Given the description of an element on the screen output the (x, y) to click on. 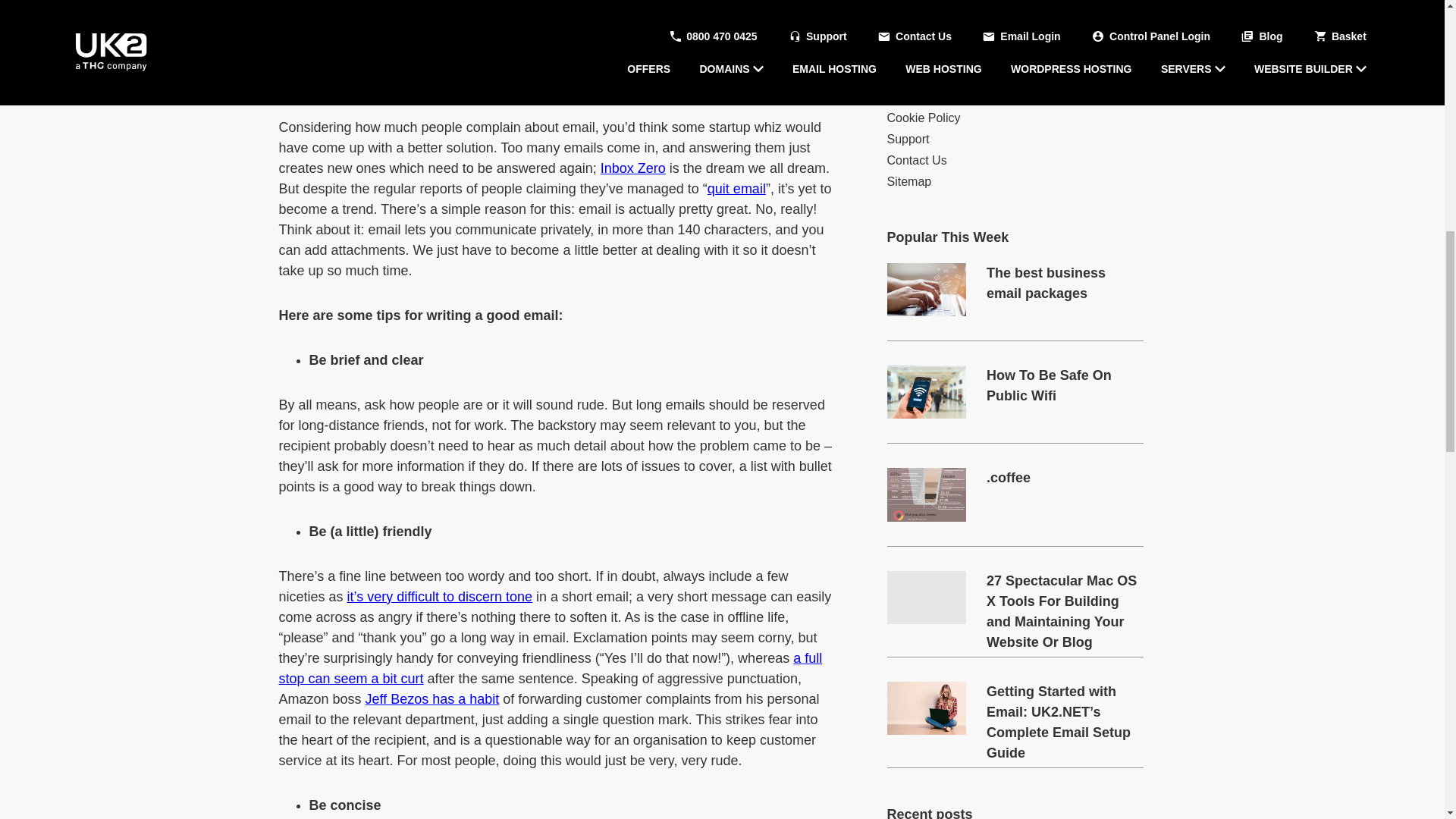
How To Be Safe On Public Wifi (926, 391)
.coffee (1064, 477)
The best business email packages (926, 289)
How To Be Safe On Public Wifi (1064, 385)
The best business email packages (1064, 282)
.coffee (926, 493)
